Given the description of an element on the screen output the (x, y) to click on. 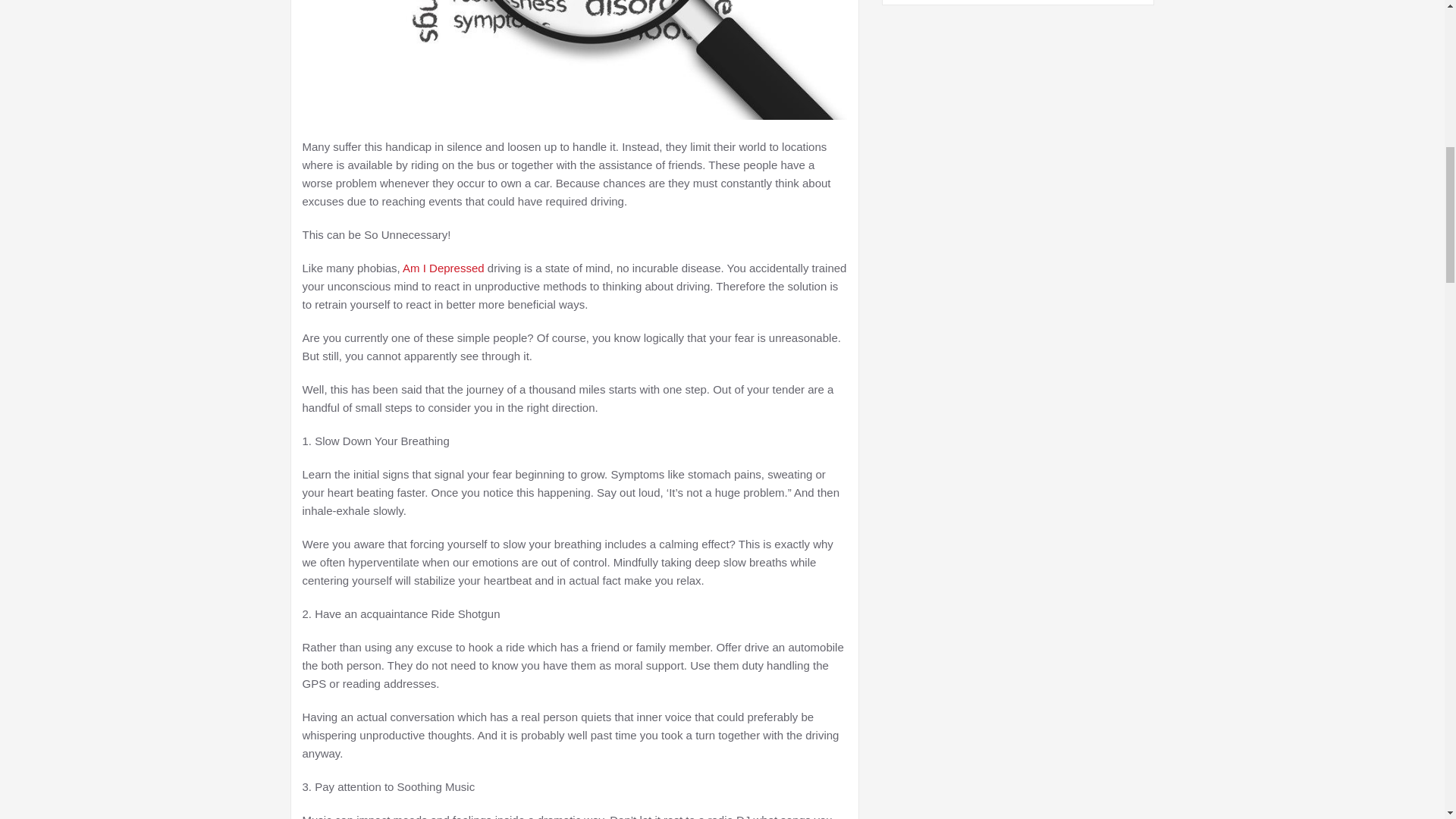
Am I Depressed (443, 267)
